Given the description of an element on the screen output the (x, y) to click on. 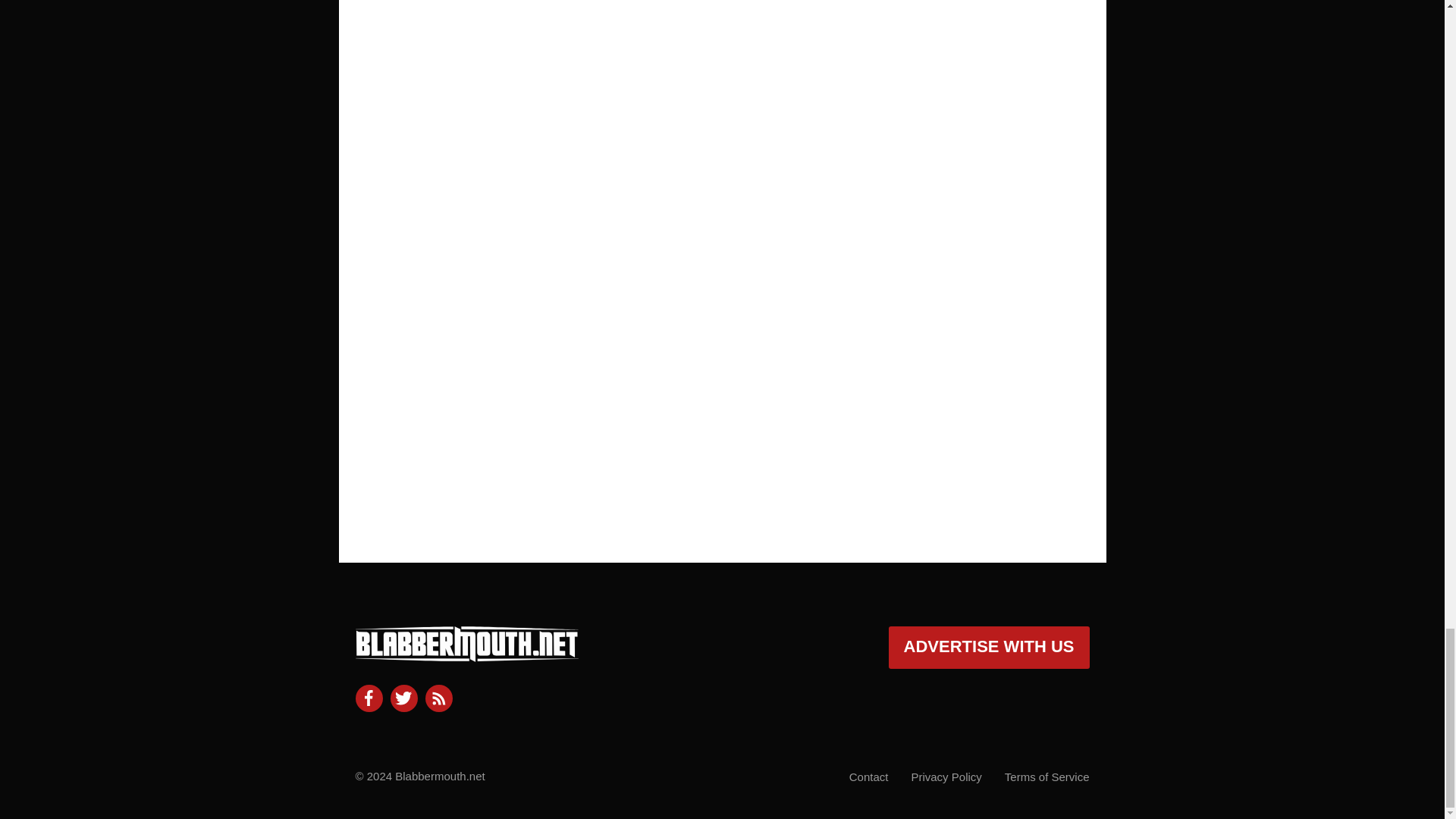
blabbermouth (466, 654)
